Given the description of an element on the screen output the (x, y) to click on. 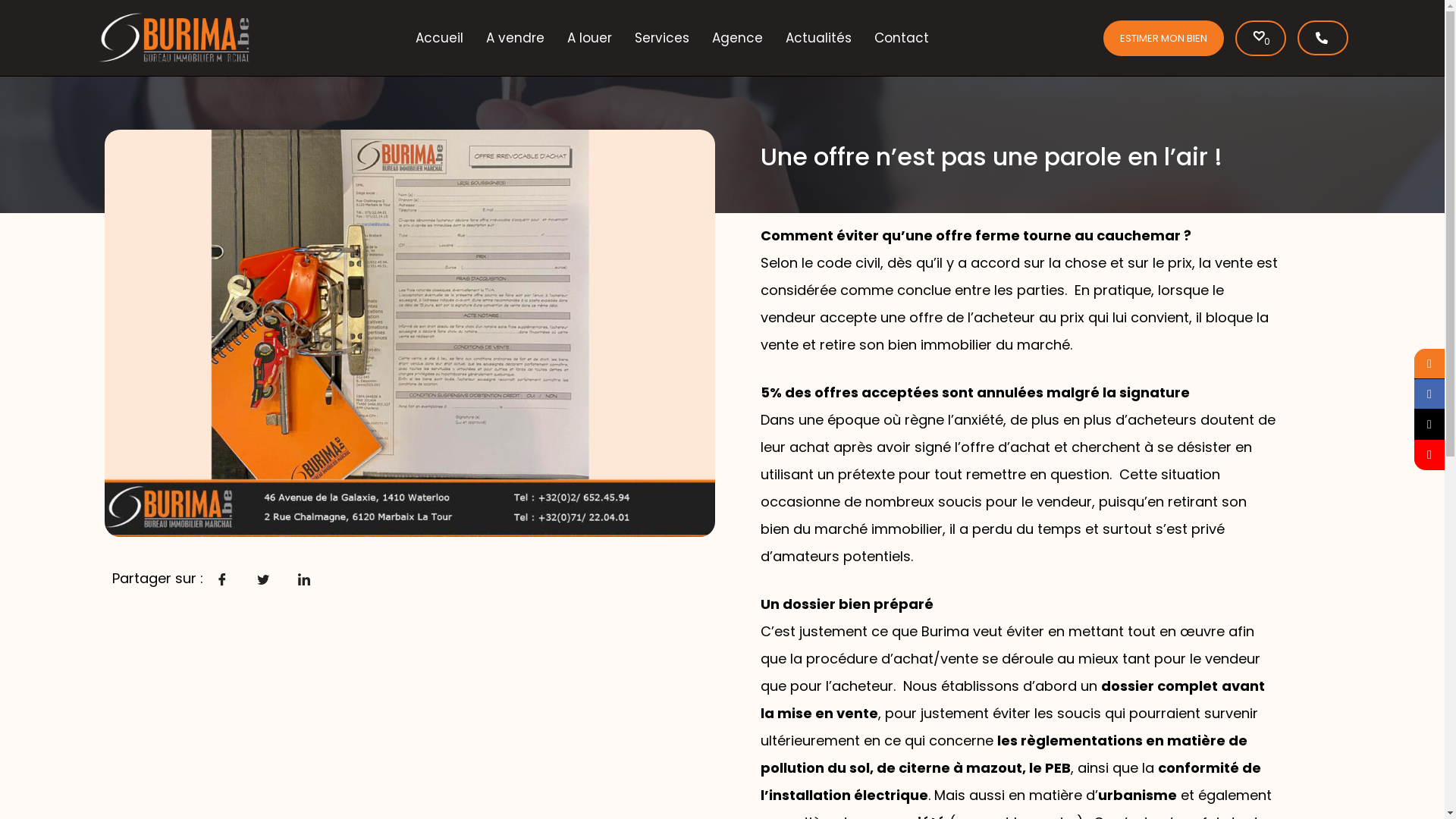
A louer Element type: text (589, 37)
Agence Element type: text (737, 37)
Services Element type: text (661, 37)
A vendre Element type: text (515, 37)
ESTIMER MON BIEN Element type: text (1162, 37)
Contact Element type: text (901, 37)
Accueil Element type: text (439, 37)
0 Element type: text (1259, 37)
